Given the description of an element on the screen output the (x, y) to click on. 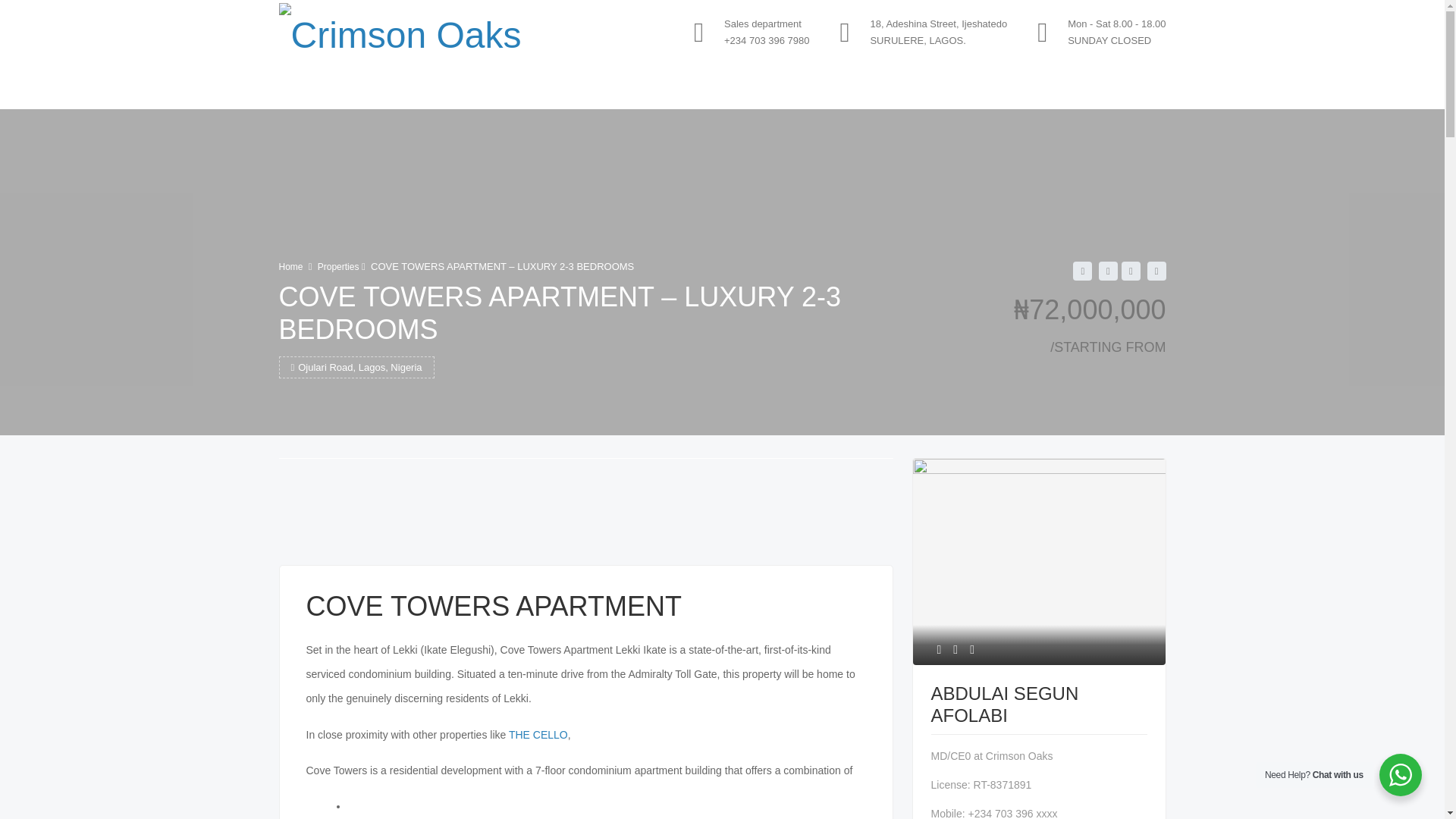
Home (290, 266)
Home (309, 87)
Rent (566, 87)
Lands (507, 87)
Houses (440, 87)
Shortlets (634, 87)
Crimson Oaks (400, 32)
About (371, 87)
Properties (338, 266)
Contact (710, 87)
